Given the description of an element on the screen output the (x, y) to click on. 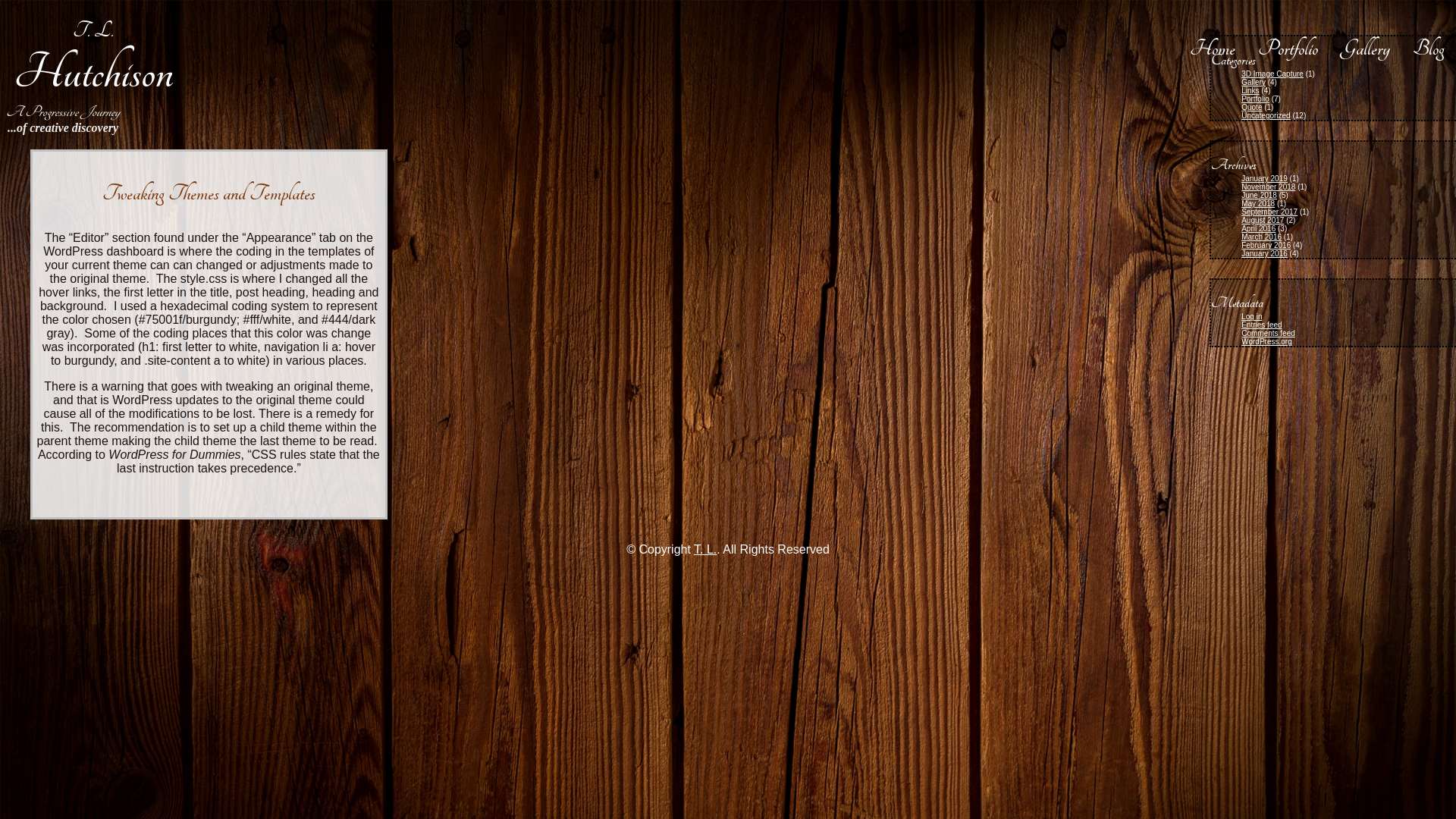
Gallery Element type: text (1365, 48)
T. L. Element type: text (704, 548)
January 2016 Element type: text (1264, 253)
May 2018 Element type: text (1257, 203)
Links Element type: text (1249, 90)
Entries feed Element type: text (1261, 324)
Home Element type: text (1212, 48)
January 2019 Element type: text (1264, 178)
Gallery Element type: text (1253, 82)
August 2017 Element type: text (1262, 220)
April 2016 Element type: text (1258, 228)
Uncategorized Element type: text (1265, 115)
WordPress.org Element type: text (1266, 341)
Comments feed Element type: text (1268, 333)
Portfolio Element type: text (1287, 48)
T. L. Element type: text (93, 58)
November 2018 Element type: text (1268, 186)
Log in Element type: text (1251, 316)
3D Image Capture Element type: text (1272, 73)
June 2018 Element type: text (1259, 195)
March 2016 Element type: text (1261, 236)
Quote Element type: text (1251, 107)
February 2016 Element type: text (1265, 245)
September 2017 Element type: text (1269, 211)
Portfolio Element type: text (1255, 98)
